Given the description of an element on the screen output the (x, y) to click on. 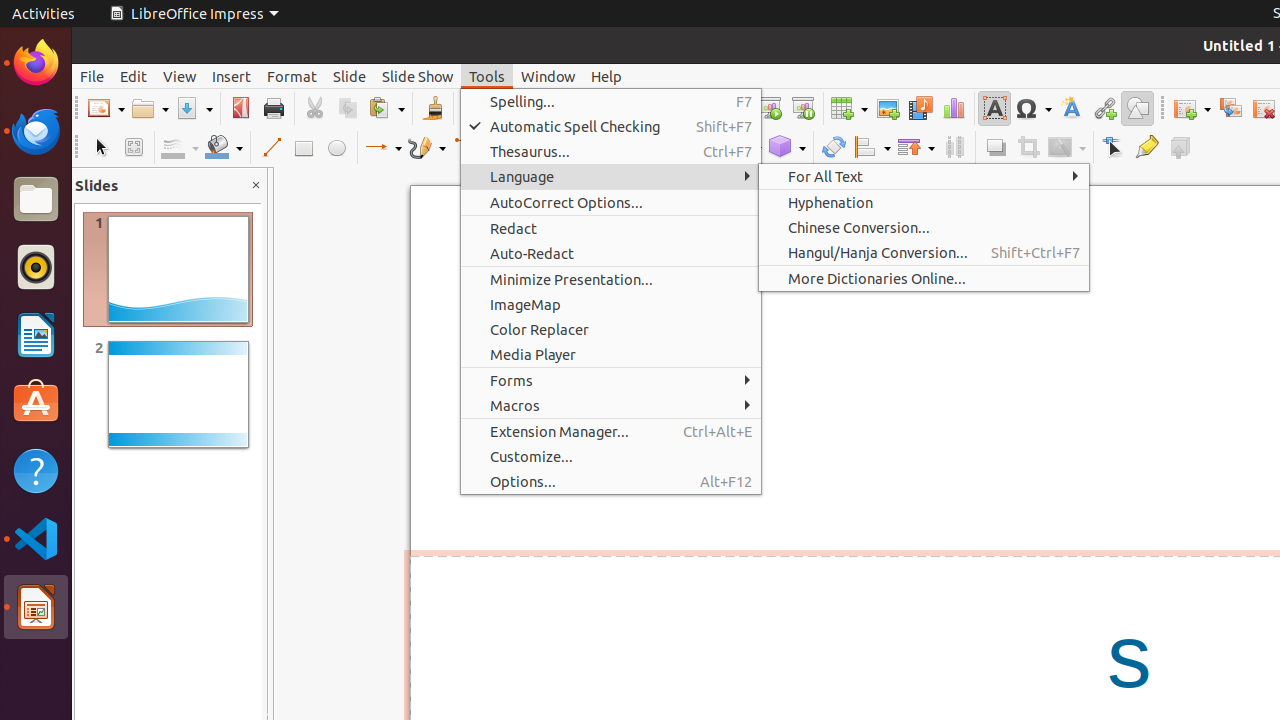
Select Element type: push-button (100, 147)
Minimize Presentation... Element type: menu-item (611, 279)
Fill Color Element type: push-button (224, 147)
Redact Element type: menu-item (611, 228)
Ellipse Element type: push-button (336, 147)
